Given the description of an element on the screen output the (x, y) to click on. 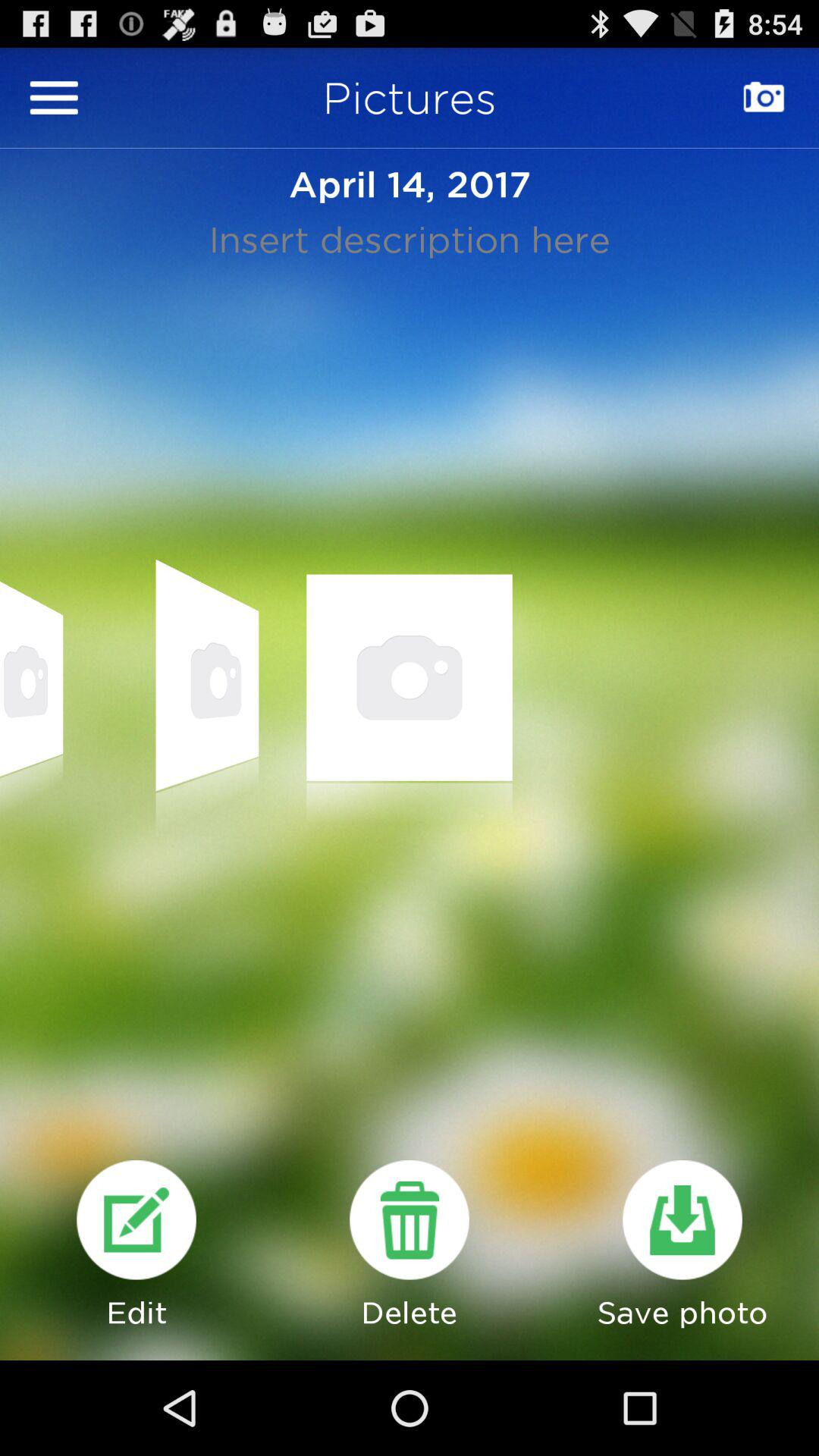
click to edit option (136, 1219)
